Given the description of an element on the screen output the (x, y) to click on. 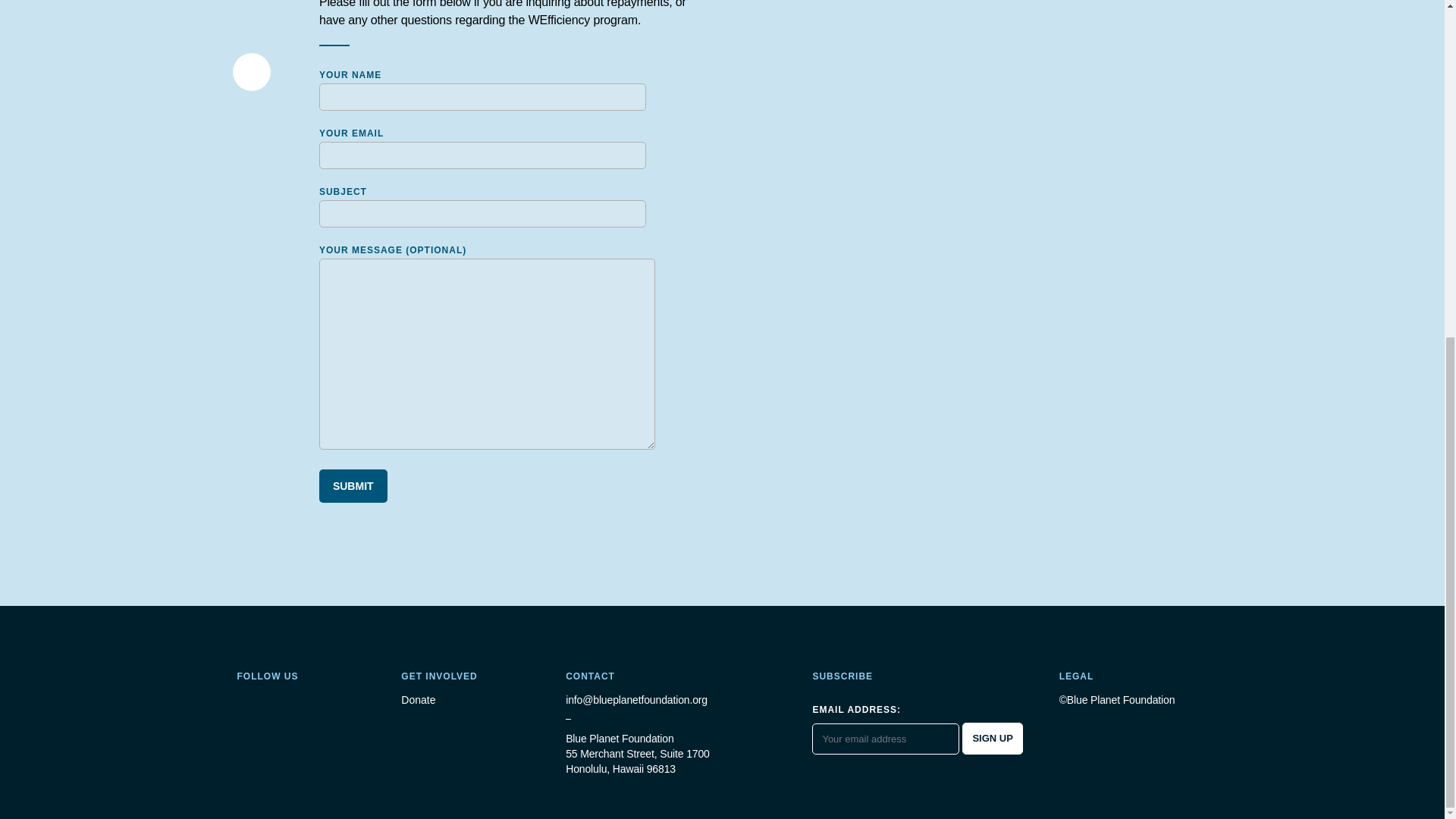
Visit us on Linkedin (269, 701)
Submit (352, 485)
Visit us on Instagram (243, 701)
Visit us on Facebook (293, 701)
Go to homepage (296, 646)
Sign up (992, 738)
Donate (475, 700)
Submit (352, 485)
Visit us on Youtube (318, 701)
Sign up (992, 738)
